Given the description of an element on the screen output the (x, y) to click on. 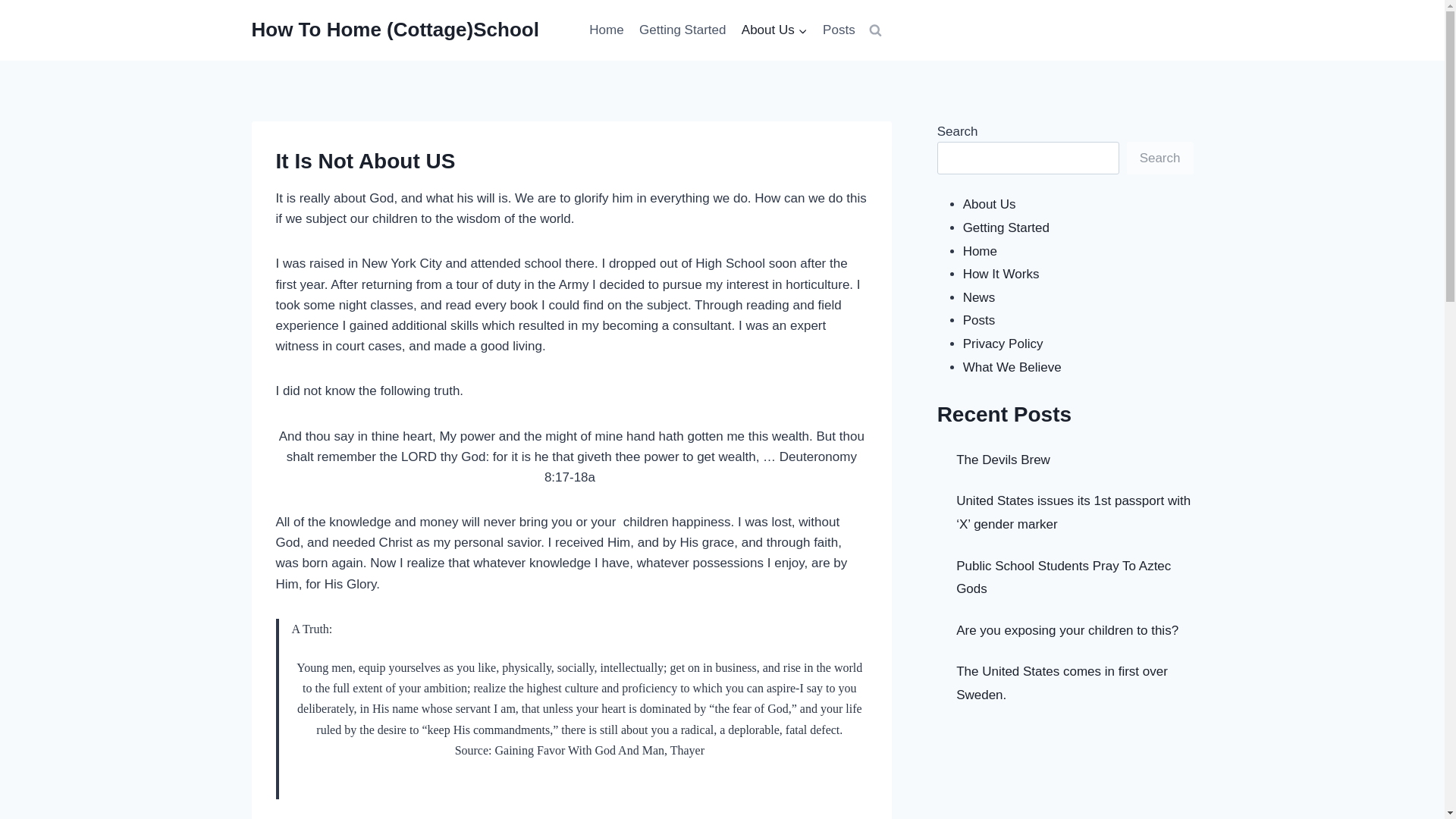
News (978, 297)
Posts (839, 30)
Public School Students Pray To Aztec Gods (1063, 576)
Privacy Policy (1002, 343)
What We Believe (1011, 367)
Search (1159, 157)
About Us (774, 30)
Posts (978, 319)
Getting Started (682, 30)
The Devils Brew (1002, 459)
About Us (989, 204)
Home (605, 30)
The United States comes in first over Sweden. (1061, 682)
Are you exposing your children to this? (1066, 630)
How It Works (1000, 273)
